Given the description of an element on the screen output the (x, y) to click on. 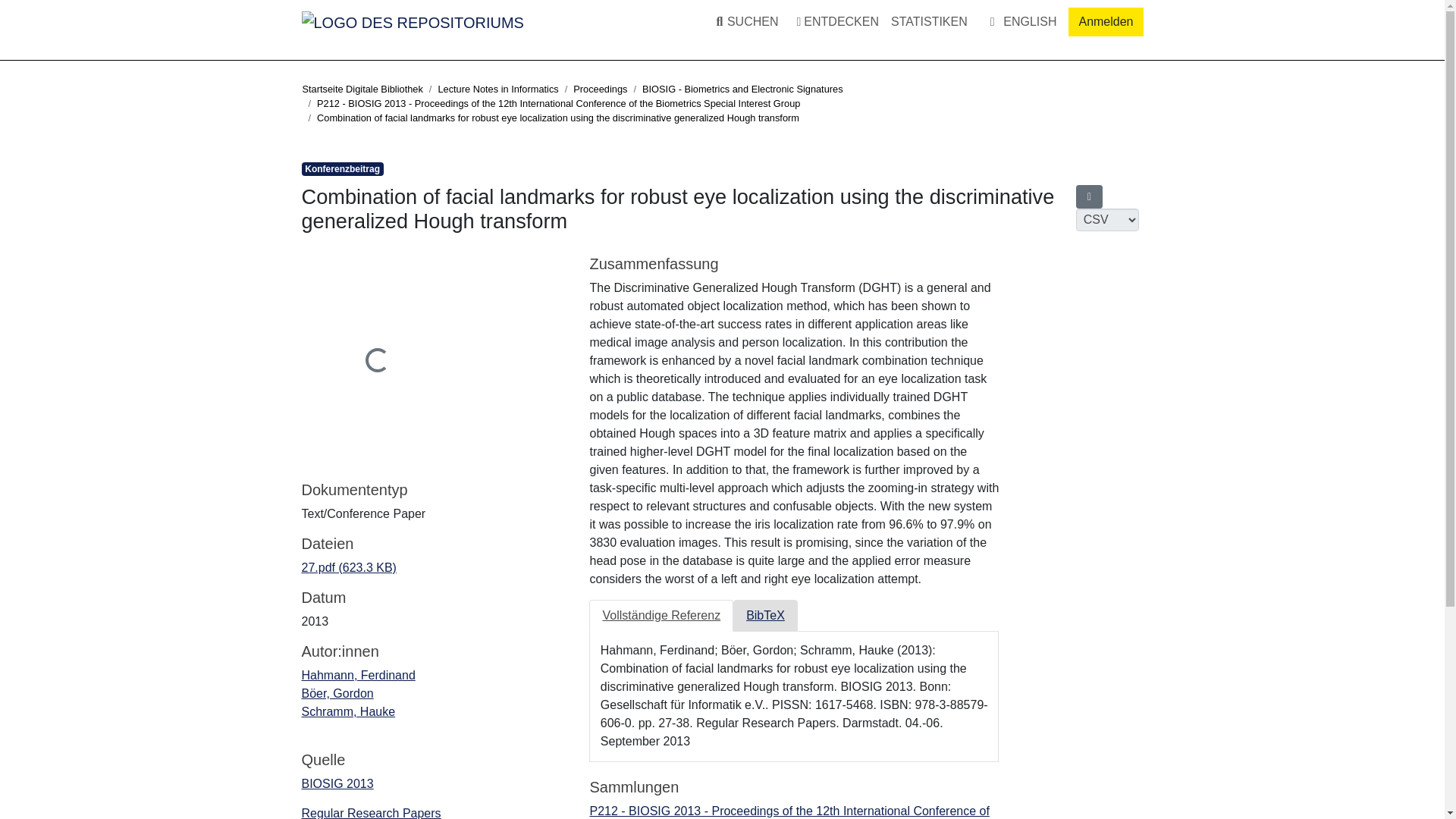
Suchen (733, 21)
SUCHEN (743, 21)
Proceedings (600, 89)
ENGLISH (1021, 22)
Hahmann, Ferdinand (357, 675)
BibTeX (765, 615)
Startseite Digitale Bibliothek (361, 89)
STATISTIKEN (929, 21)
Statistiken (929, 21)
BIOSIG 2013 (337, 783)
Exportiere Suchergebnisse (1089, 196)
BIOSIG - Biometrics and Electronic Signatures (742, 89)
Sprache (1021, 22)
